Given the description of an element on the screen output the (x, y) to click on. 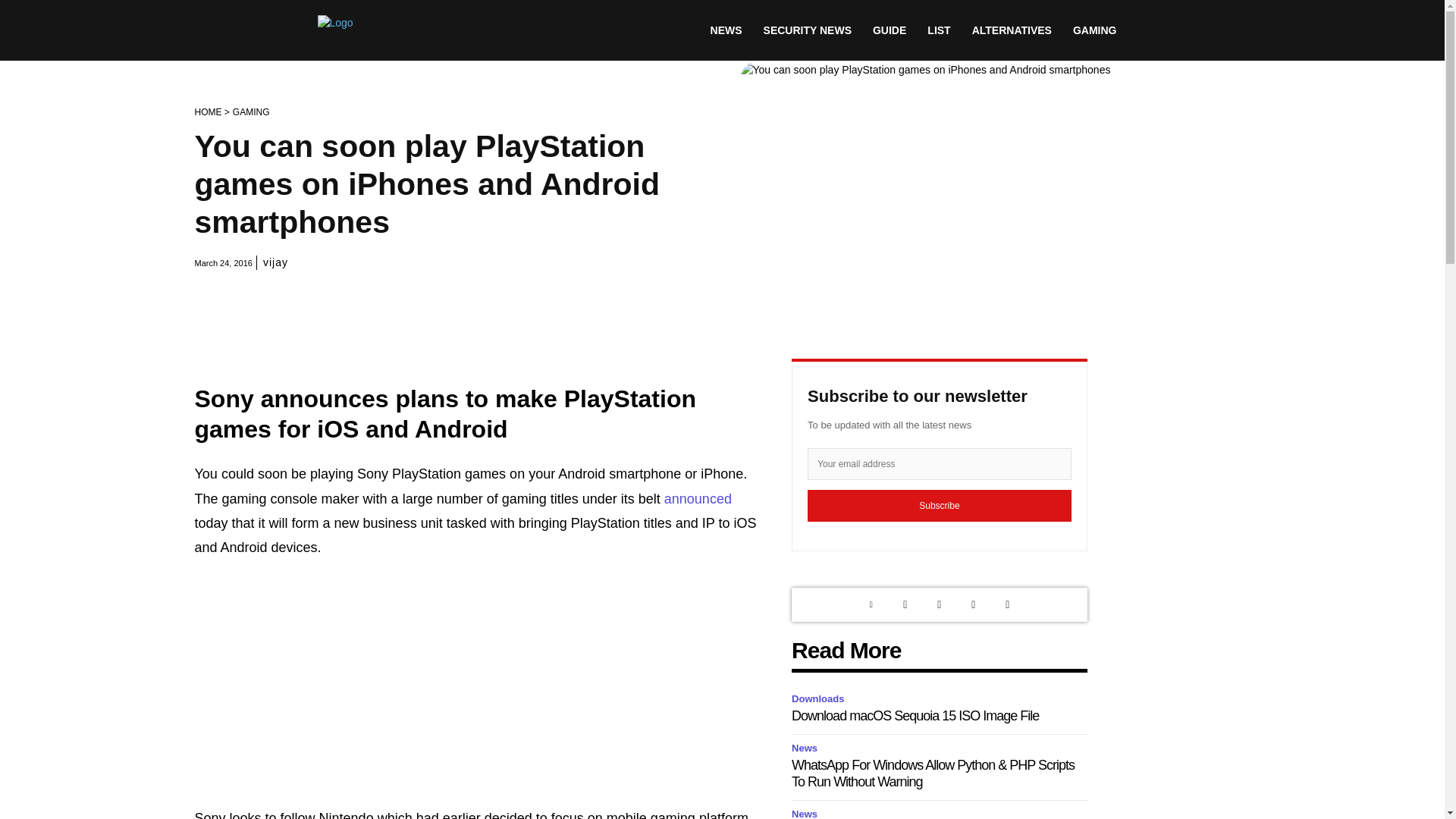
Instagram (939, 604)
Downloads (820, 699)
News (807, 748)
Subscribe (939, 505)
GAMING (250, 112)
GUIDE (889, 30)
vijay (275, 262)
Twitter (904, 604)
Download macOS Sequoia 15 ISO Image File (915, 715)
GAMING (1094, 30)
View all posts in Gaming (250, 112)
News (807, 812)
announced (697, 498)
Download macOS Sequoia 15 ISO Image File (915, 715)
